Given the description of an element on the screen output the (x, y) to click on. 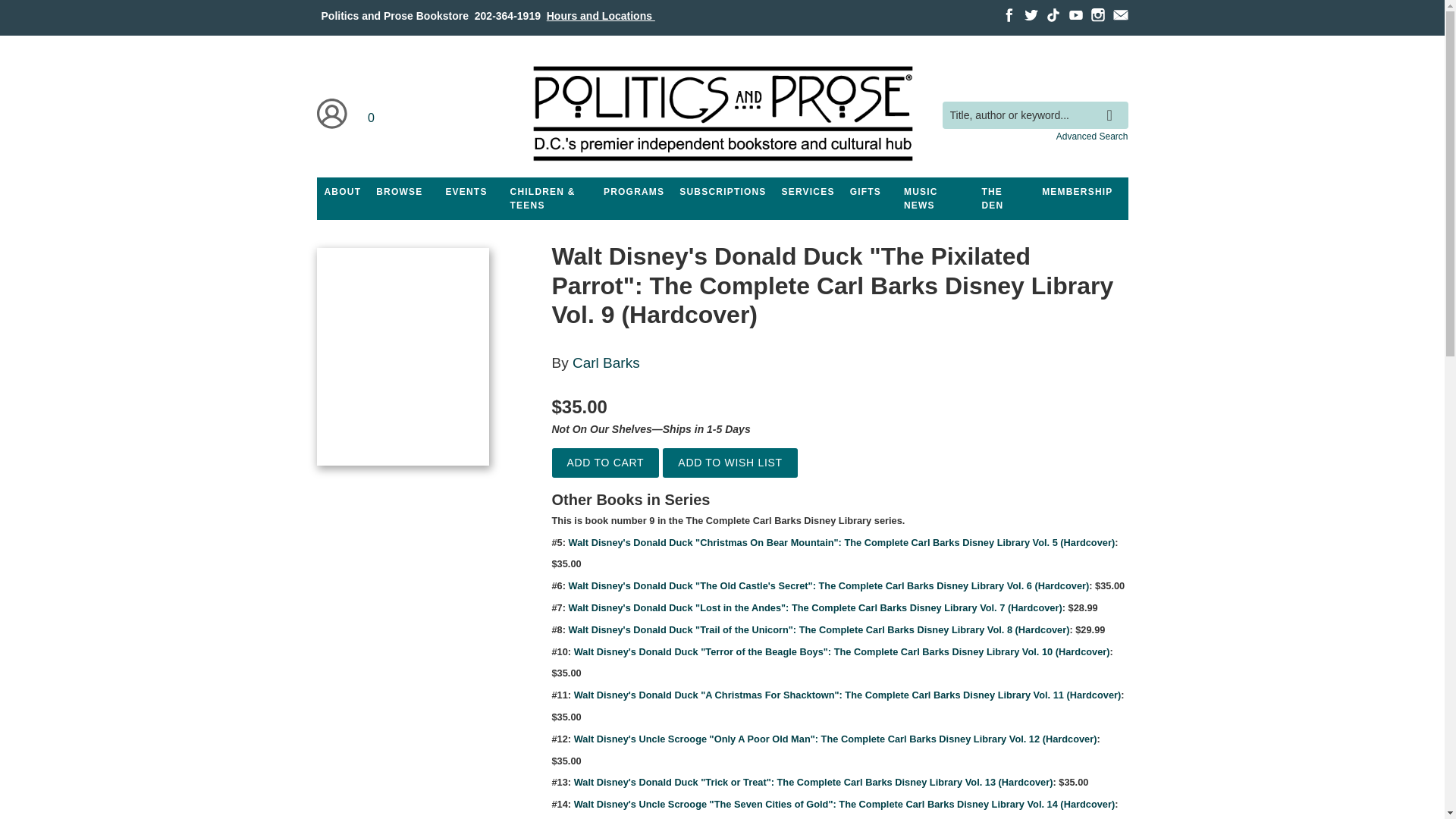
BROWSE (398, 191)
SUBSCRIPTIONS (722, 191)
Hours and Locations  (601, 15)
search (1112, 103)
Title, author or keyword... (1034, 115)
Add to Cart (605, 462)
ABOUT (343, 191)
Children and Teens Department (548, 198)
See information about our programs (633, 191)
EVENTS (465, 191)
